Given the description of an element on the screen output the (x, y) to click on. 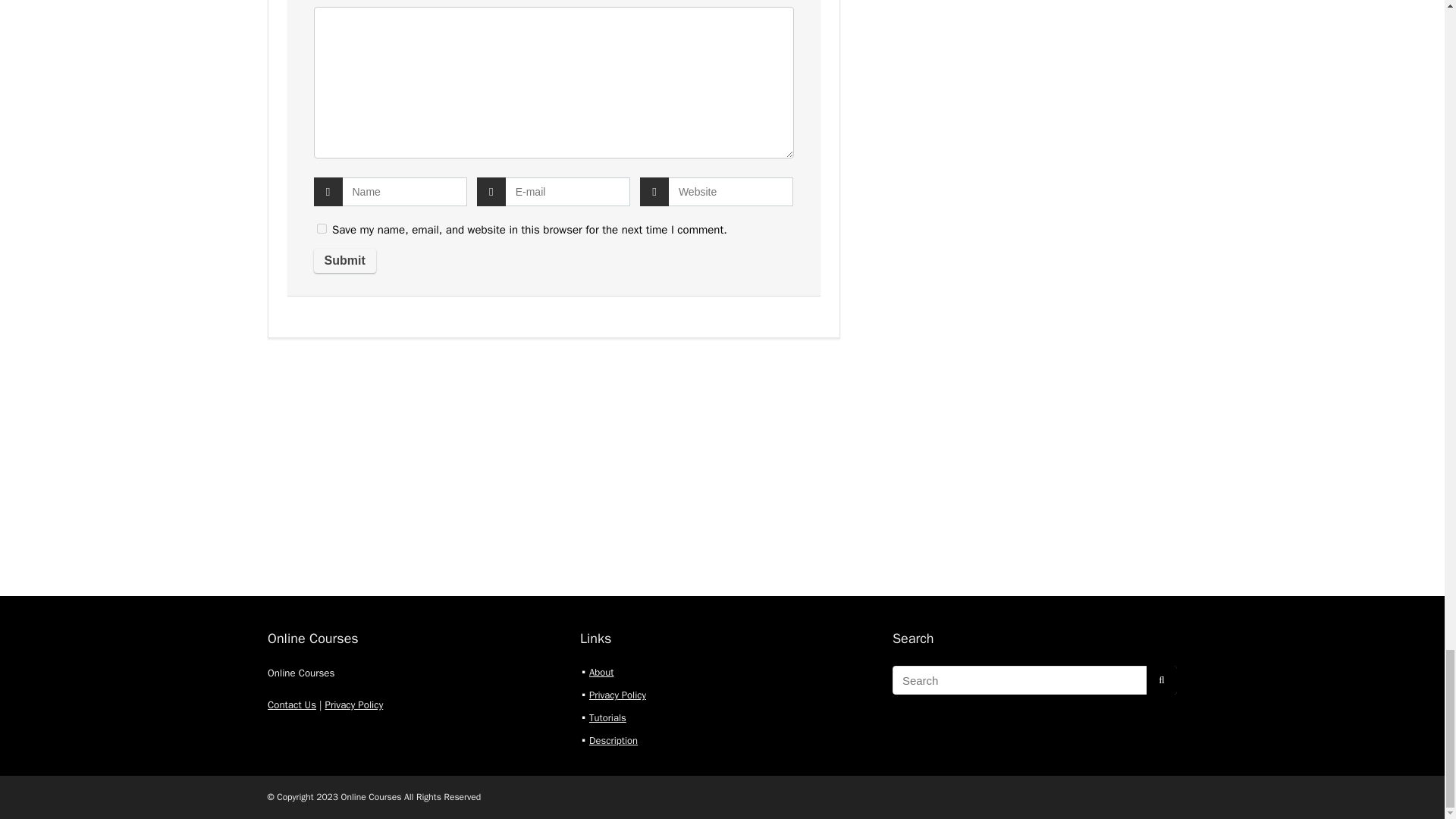
Submit (344, 260)
Submit (344, 260)
yes (321, 228)
